Given the description of an element on the screen output the (x, y) to click on. 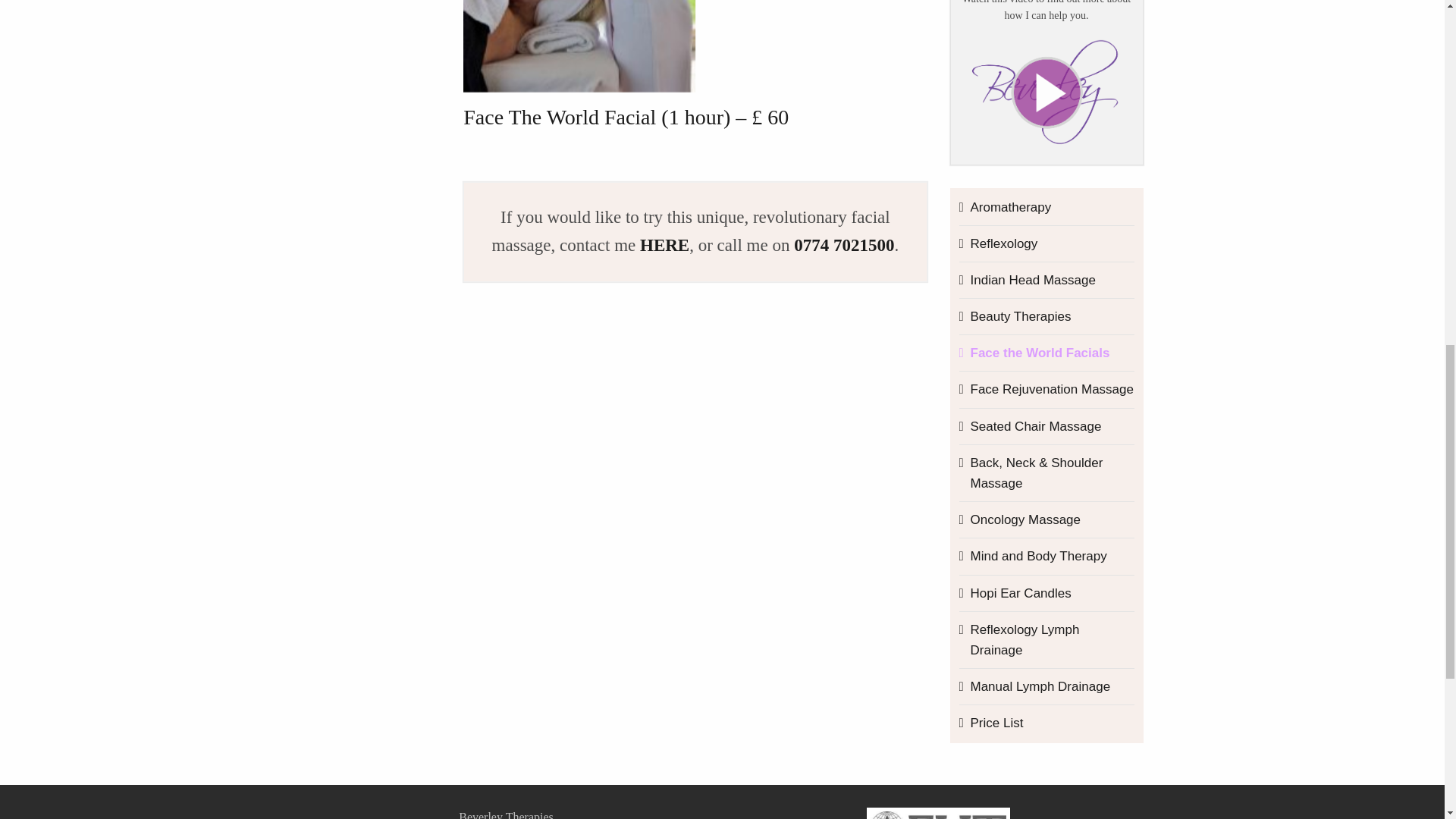
We are an FHT Member (938, 812)
Call Us - Beverley Therapies  (843, 244)
Contact Us - Beverley Therapies (664, 244)
